Given the description of an element on the screen output the (x, y) to click on. 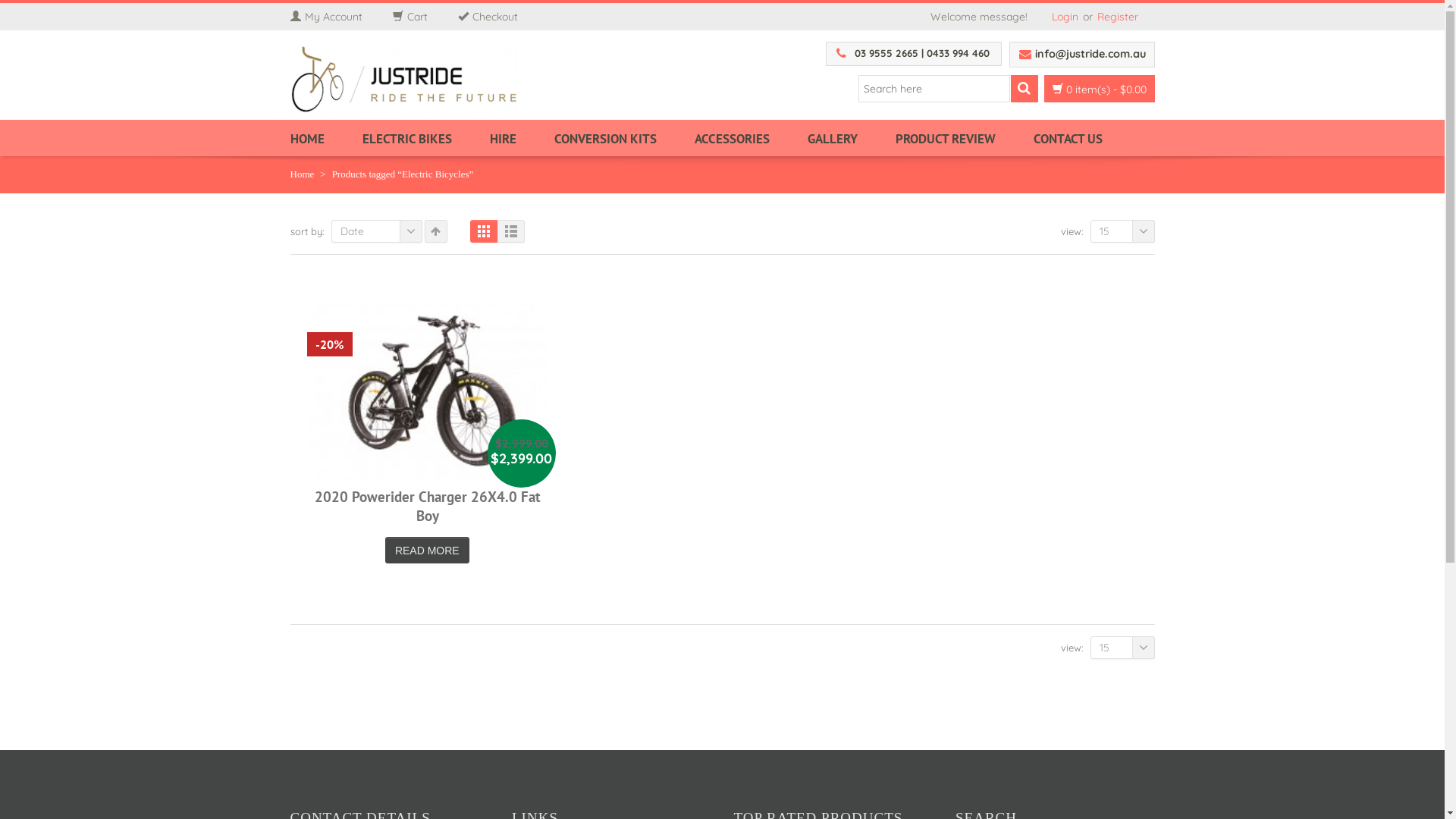
2020 Powerider Charger 26X4.0 Fat Boy Element type: text (426, 506)
15 Element type: text (1122, 647)
Grid View Element type: hover (483, 230)
Cart Element type: text (425, 16)
List View Element type: hover (510, 230)
CONVERSION KITS Element type: text (623, 137)
HOME Element type: text (325, 137)
Login Element type: text (1064, 16)
READ MORE Element type: text (427, 549)
Search Element type: hover (1023, 88)
ACCESSORIES Element type: text (750, 137)
Date Element type: text (375, 230)
Register Element type: text (1117, 16)
GALLERY Element type: text (850, 137)
15 Element type: text (1122, 230)
ELECTRIC BIKES Element type: text (425, 137)
HOT
-20%
$2,999.00
$2,399.00 Element type: text (426, 389)
Home Element type: text (301, 173)
PRODUCT REVIEW Element type: text (963, 137)
Checkout Element type: text (503, 16)
CONTACT US Element type: text (1076, 137)
HIRE Element type: text (521, 137)
My Account Element type: text (340, 16)
